Given the description of an element on the screen output the (x, y) to click on. 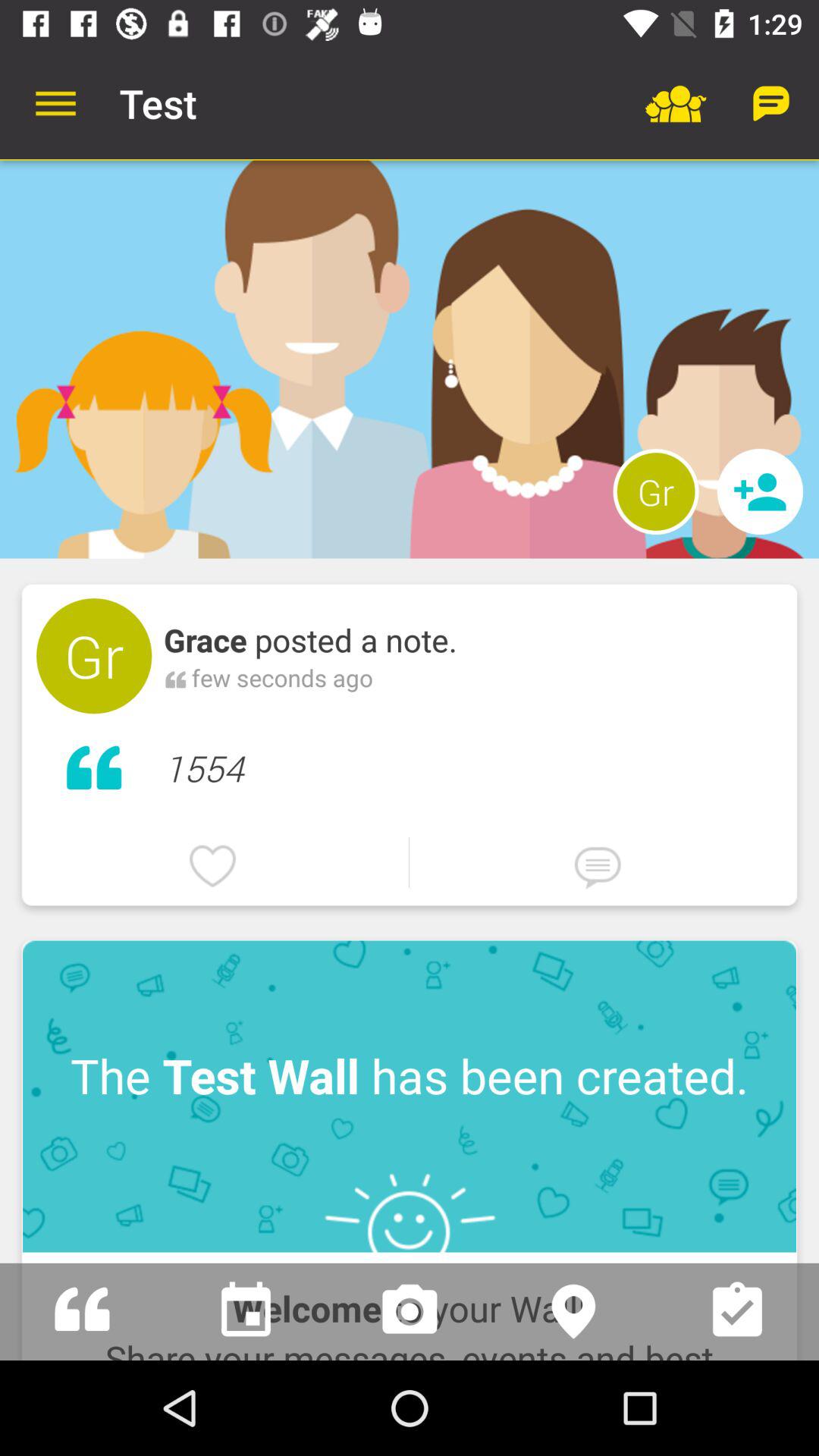
shows feed (81, 1311)
